Given the description of an element on the screen output the (x, y) to click on. 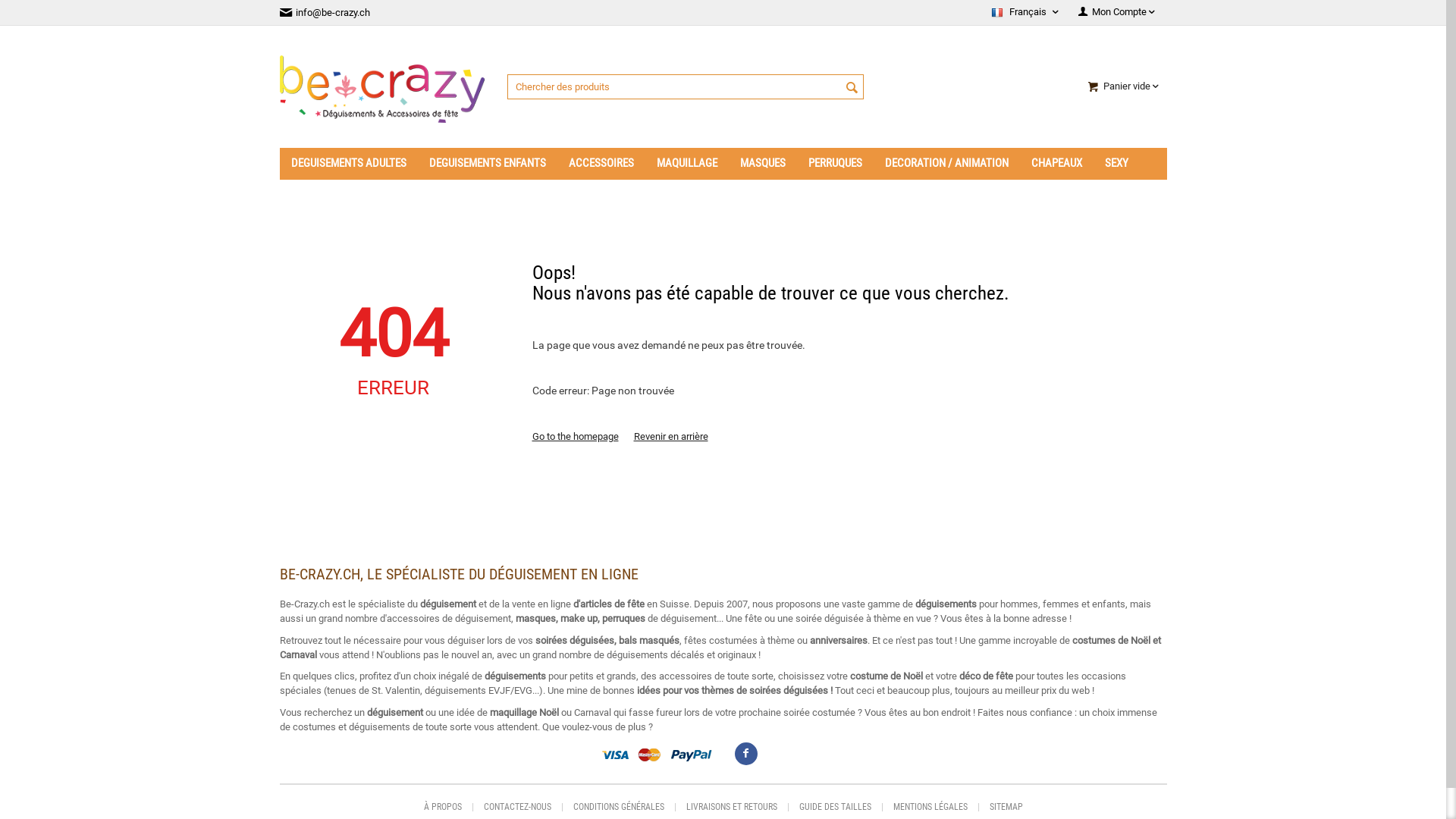
SITEMAP Element type: text (1005, 806)
GUIDE DES TAILLES Element type: text (835, 806)
  Mon Compte Element type: text (1115, 11)
DEGUISEMENTS ADULTES Element type: text (348, 162)
PERRUQUES Element type: text (834, 162)
Chercher des produits Element type: hover (684, 86)
info@be-crazy.ch Element type: text (329, 12)
DEGUISEMENTS ENFANTS Element type: text (486, 162)
MASQUES Element type: text (762, 162)
CHAPEAUX Element type: text (1055, 162)
SEXY Element type: text (1116, 162)
Recherche rapide Element type: hover (851, 87)
DECORATION / ANIMATION Element type: text (946, 162)
CONTACTEZ-NOUS Element type: text (517, 806)
ACCESSOIRES Element type: text (600, 162)
MAQUILLAGE Element type: text (686, 162)
Go to the homepage Element type: text (575, 436)
LIVRAISONS ET RETOURS Element type: text (730, 806)
Panier vide Element type: text (1122, 85)
